Given the description of an element on the screen output the (x, y) to click on. 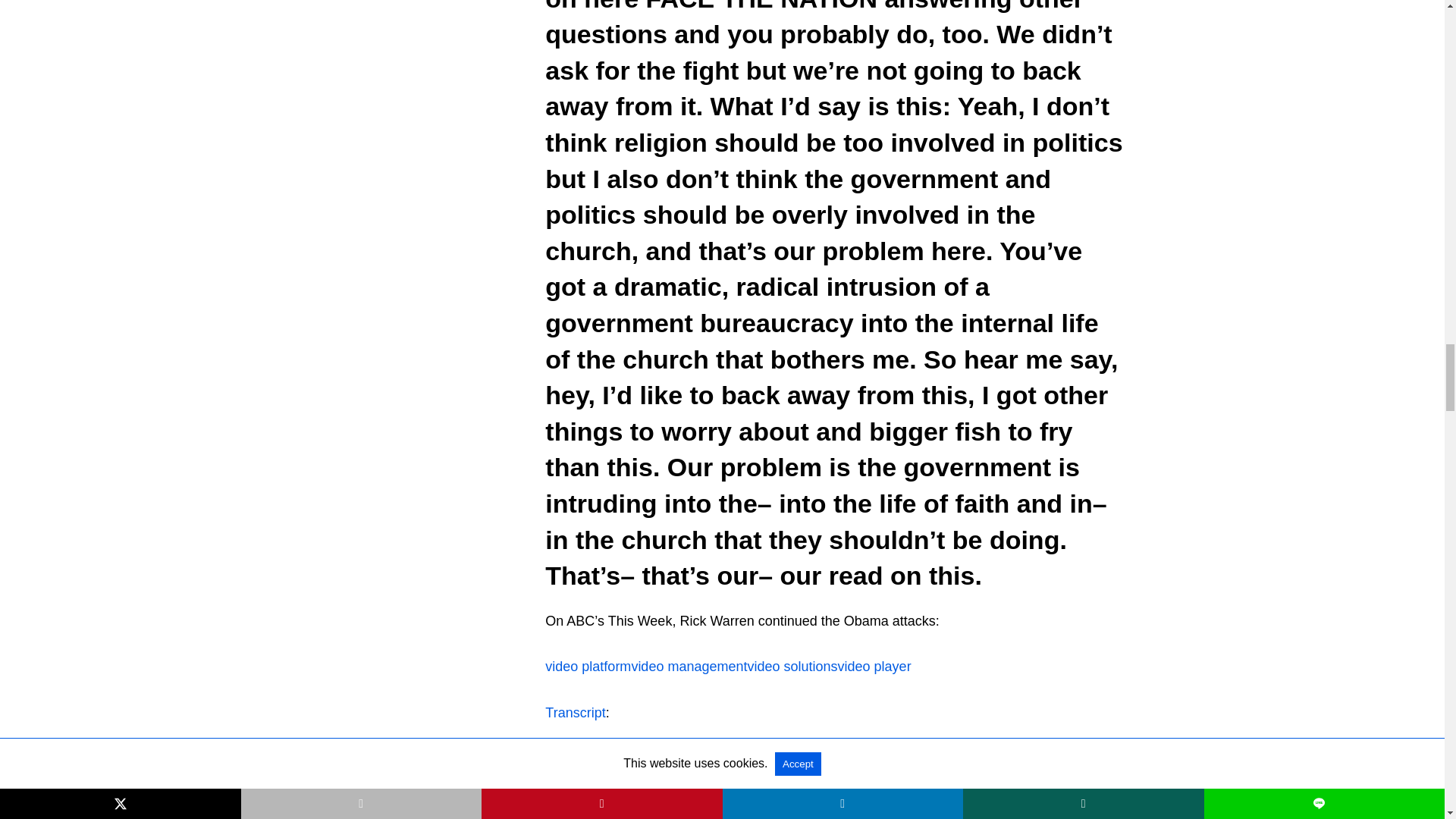
video solutions (791, 666)
video platform (587, 666)
video player (874, 666)
Transcript (574, 712)
video management (688, 666)
